Given the description of an element on the screen output the (x, y) to click on. 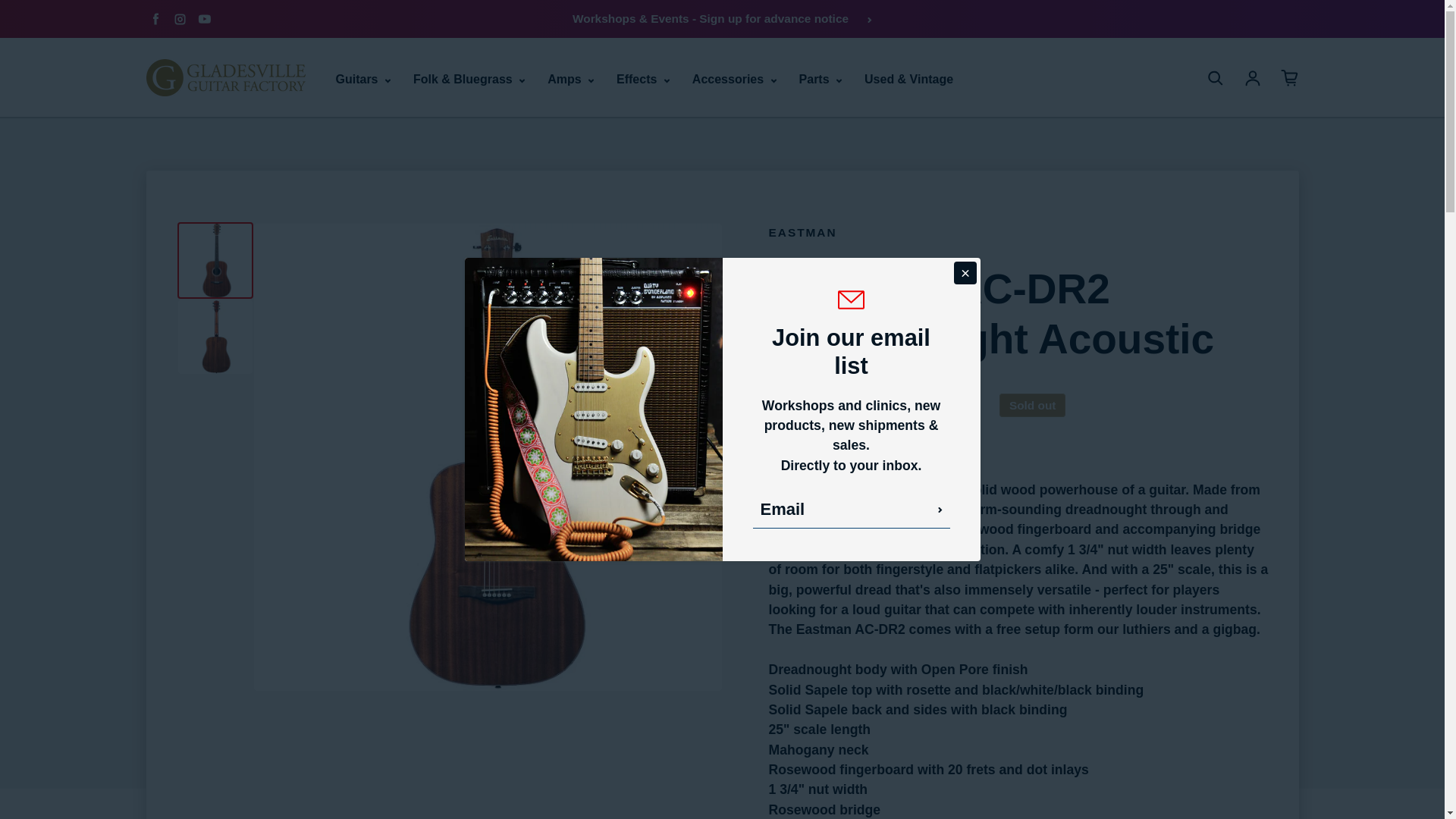
YouTube (203, 18)
Amps (570, 79)
Accessories (734, 79)
Guitars (362, 79)
Instagram (179, 18)
Parts (820, 79)
Facebook (154, 18)
Effects (642, 79)
Log in (1252, 76)
